Given the description of an element on the screen output the (x, y) to click on. 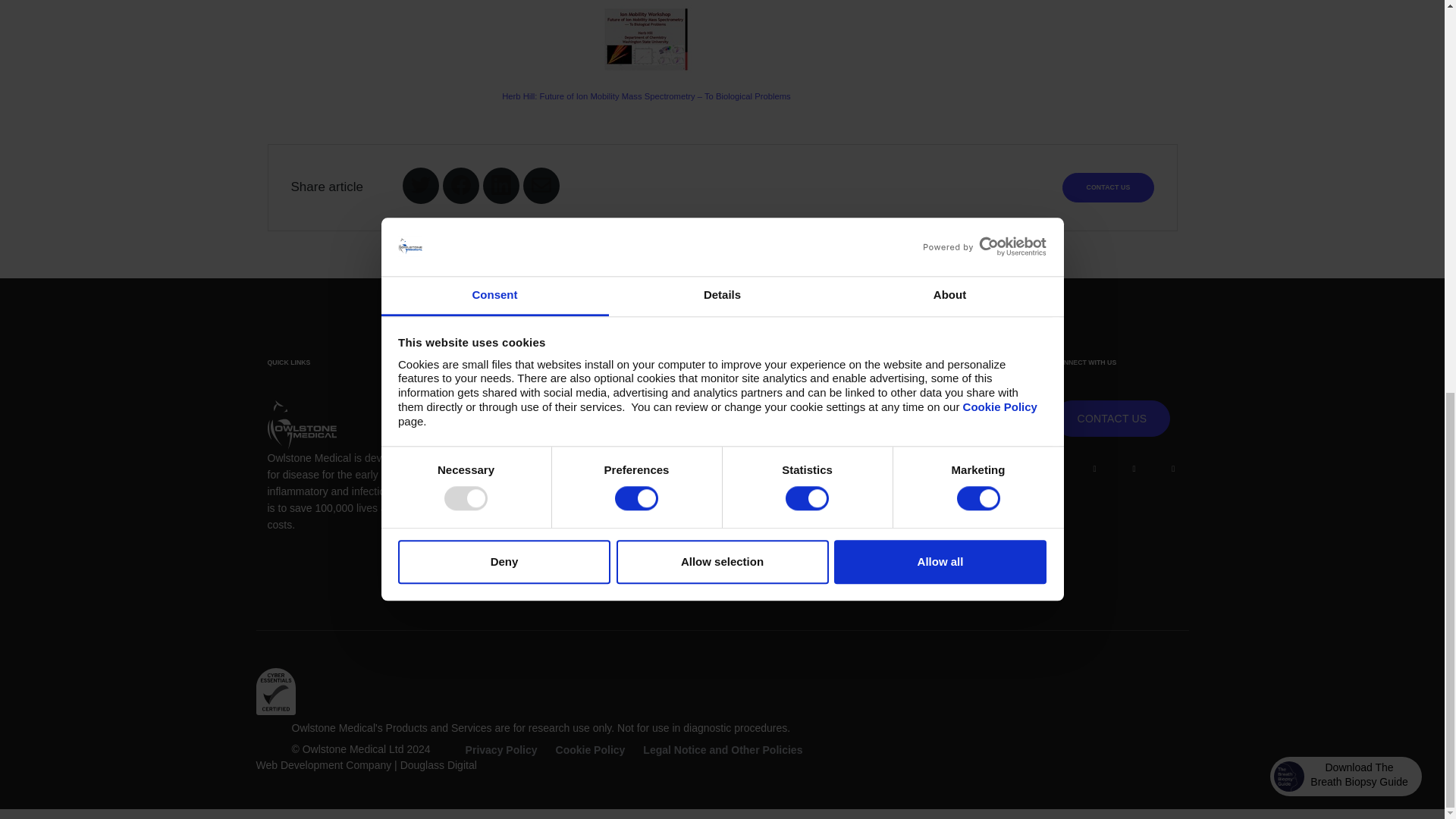
Share on LinkedIn (501, 184)
Share on Facebook (460, 184)
Share on Twitter (420, 184)
Share via Email (541, 184)
